Given the description of an element on the screen output the (x, y) to click on. 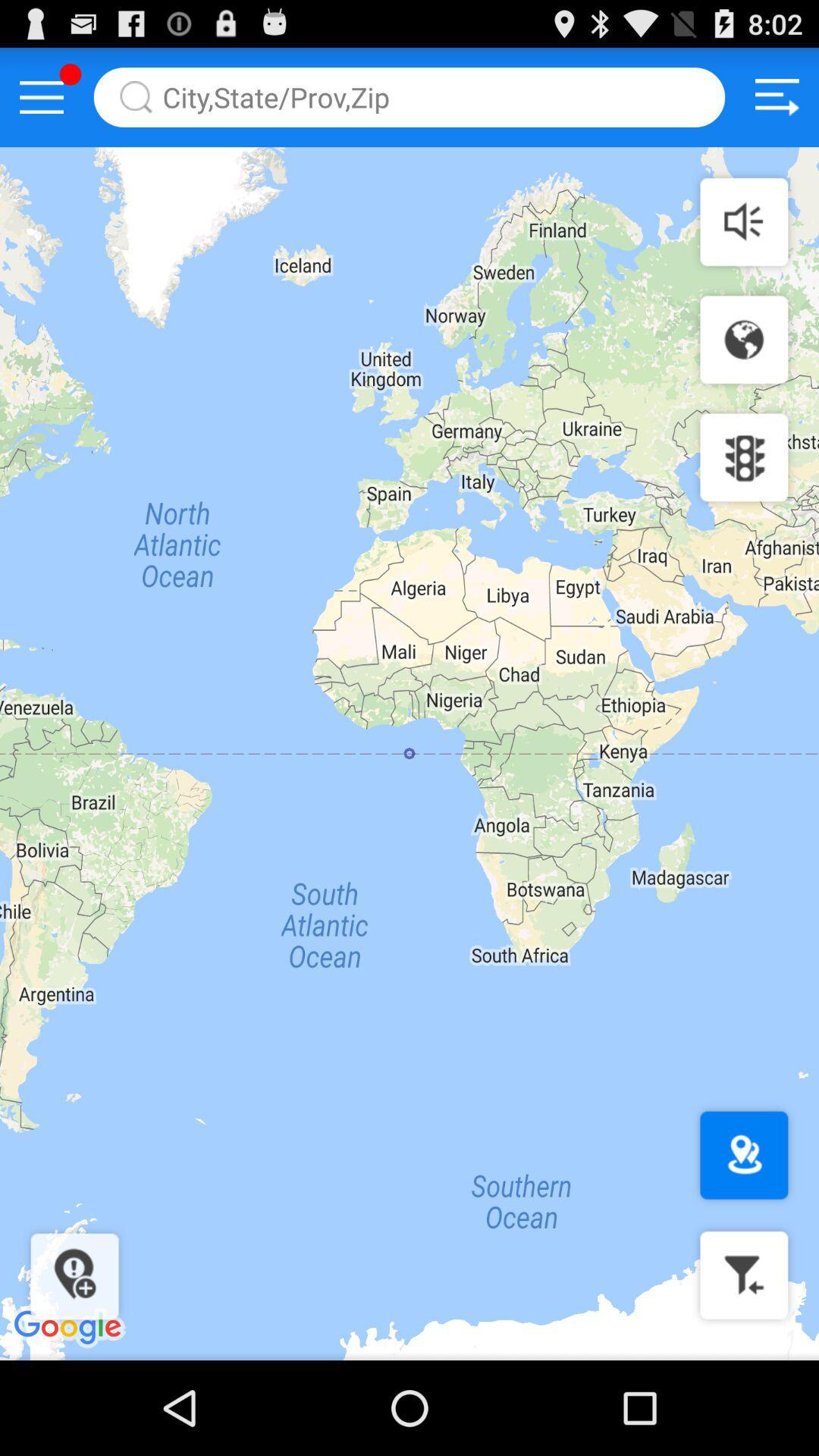
select the item at the center (409, 753)
